Given the description of an element on the screen output the (x, y) to click on. 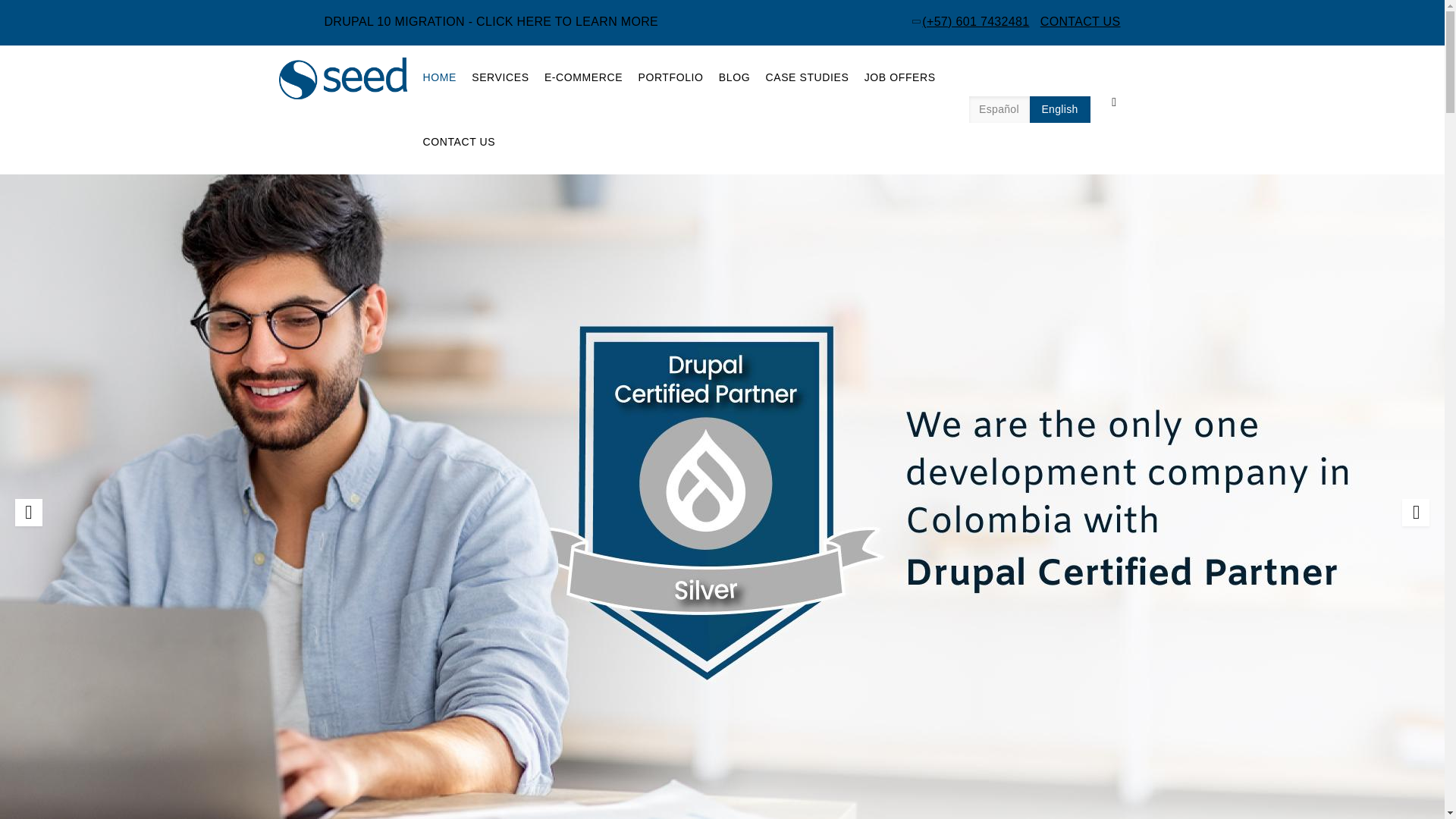
SERVICES (499, 77)
JOB OFFERS (900, 77)
CONTACT US (1081, 21)
CONTACT US (458, 141)
English (1059, 108)
CASE STUDIES (807, 77)
Home (345, 81)
E-COMMERCE (583, 77)
DRUPAL 10 MIGRATION - CLICK HERE TO LEARN MORE (491, 21)
